Given the description of an element on the screen output the (x, y) to click on. 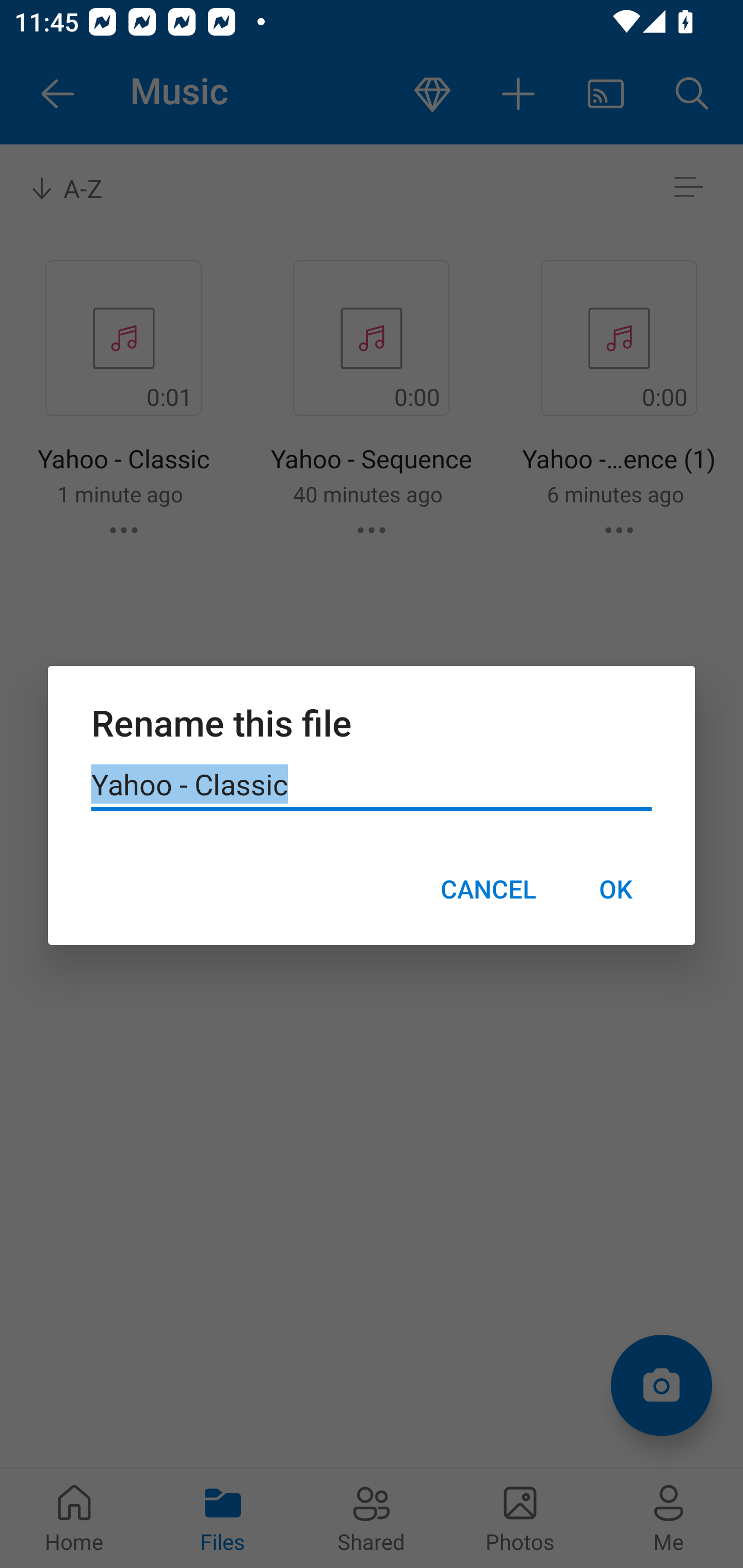
Yahoo - Classic (371, 784)
CANCEL (488, 888)
OK (615, 888)
